Given the description of an element on the screen output the (x, y) to click on. 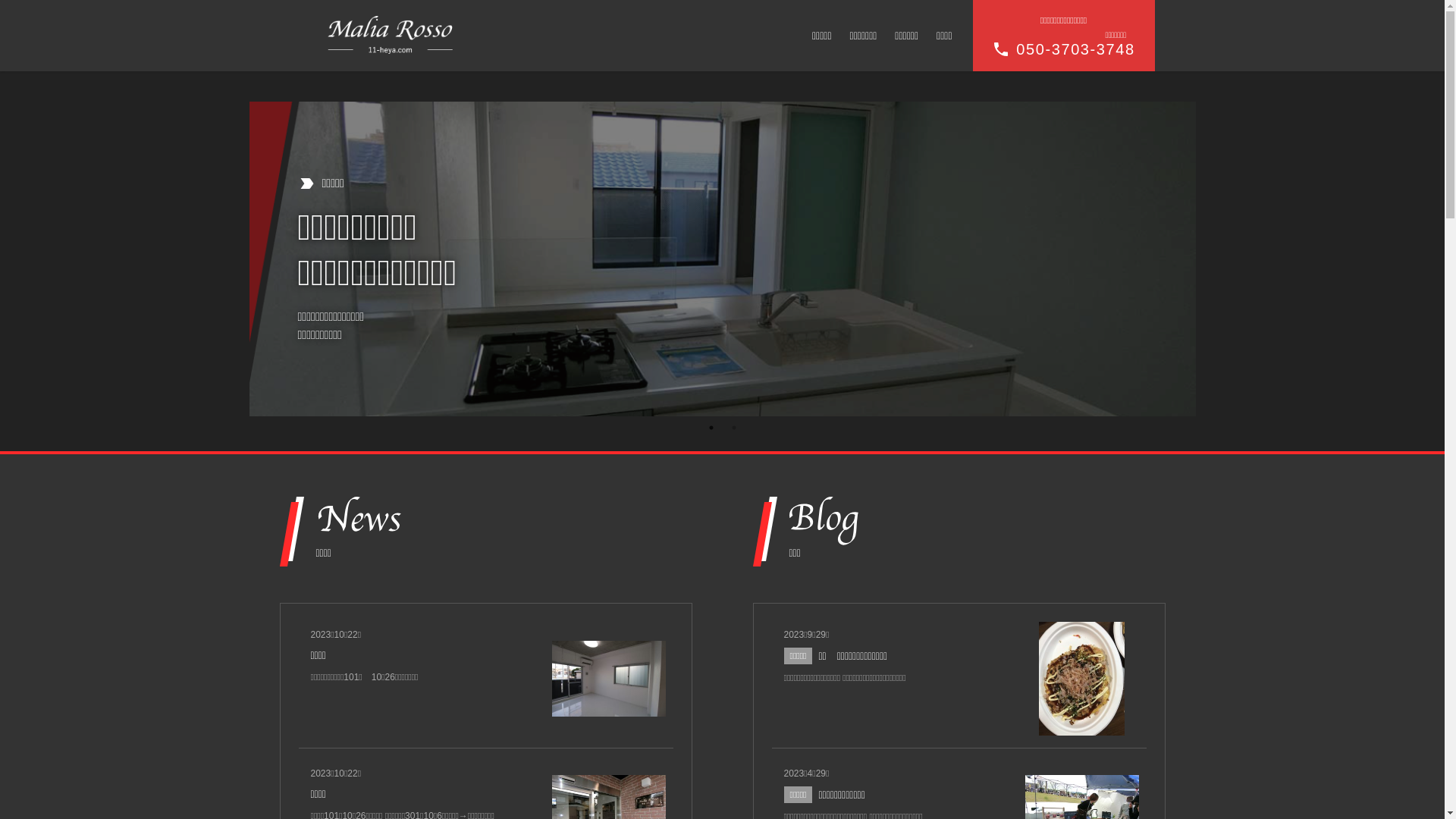
1 Element type: text (710, 427)
2 Element type: text (733, 427)
